Given the description of an element on the screen output the (x, y) to click on. 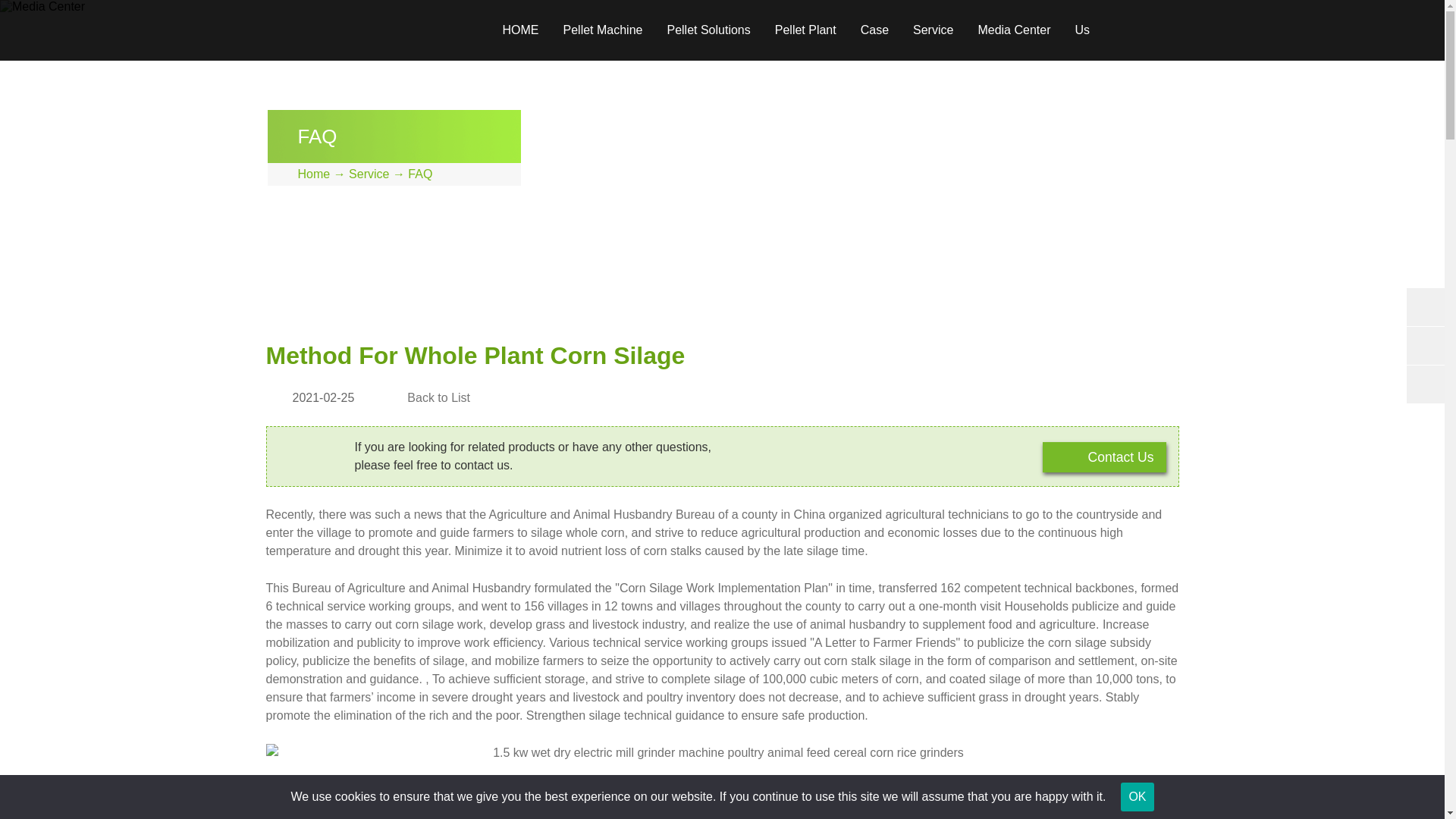
Pellet Machine (601, 30)
RICHI (346, 30)
HOME (519, 30)
Chat Online (1104, 457)
